Given the description of an element on the screen output the (x, y) to click on. 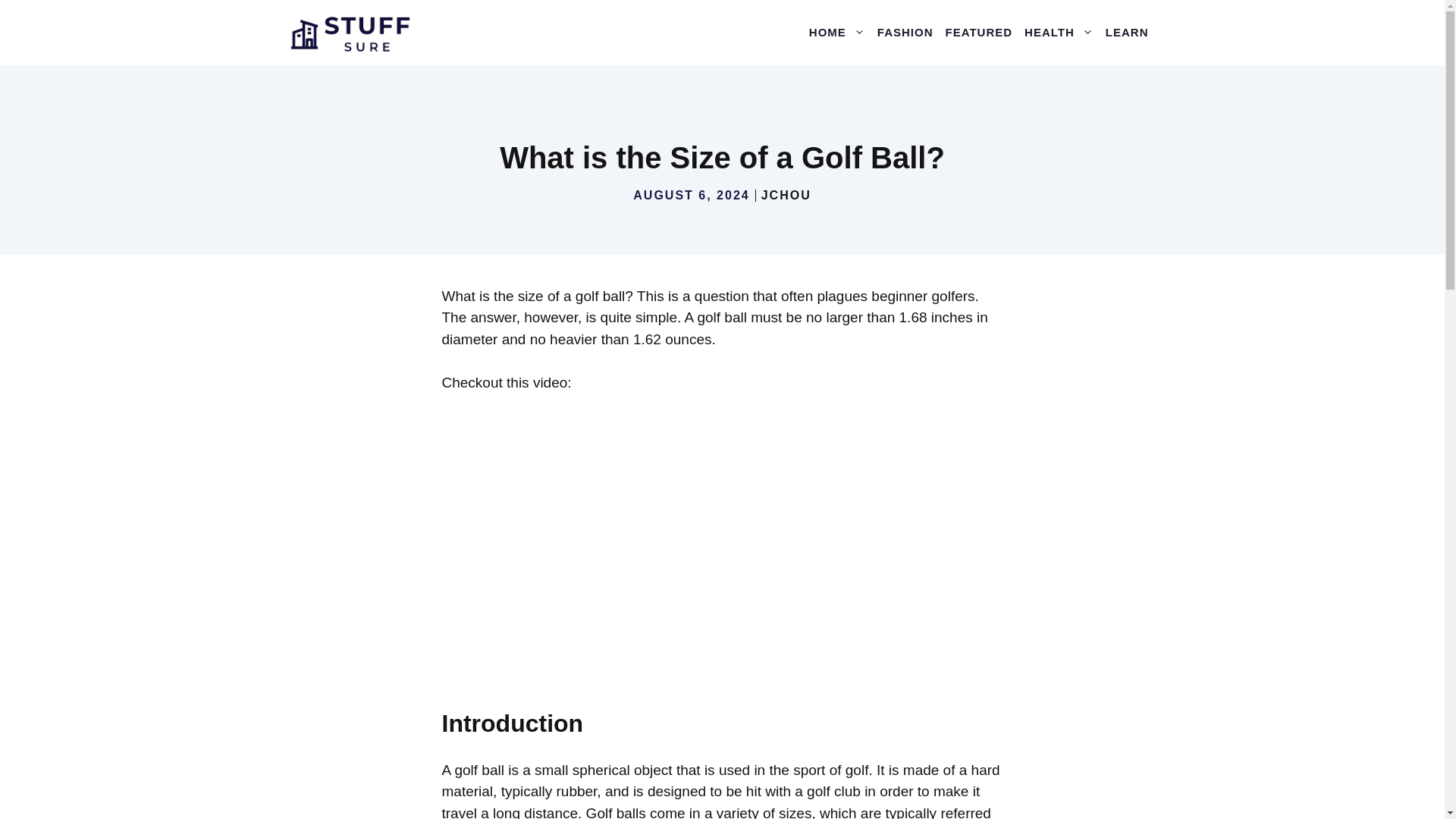
HOME (836, 32)
HEALTH (1058, 32)
FASHION (904, 32)
LEARN (1126, 32)
FEATURED (979, 32)
